Given the description of an element on the screen output the (x, y) to click on. 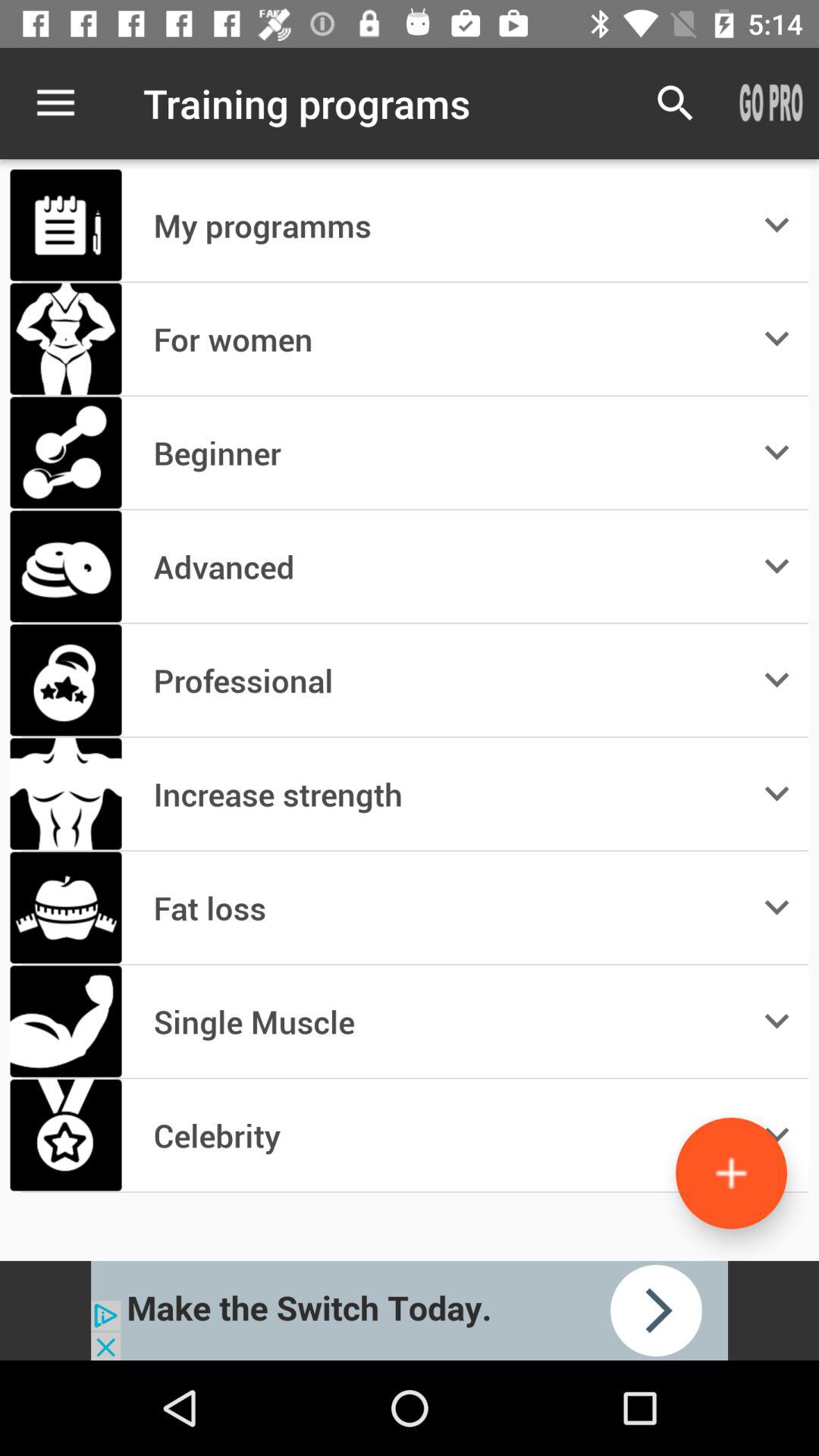
click on advertisement (409, 1310)
